Given the description of an element on the screen output the (x, y) to click on. 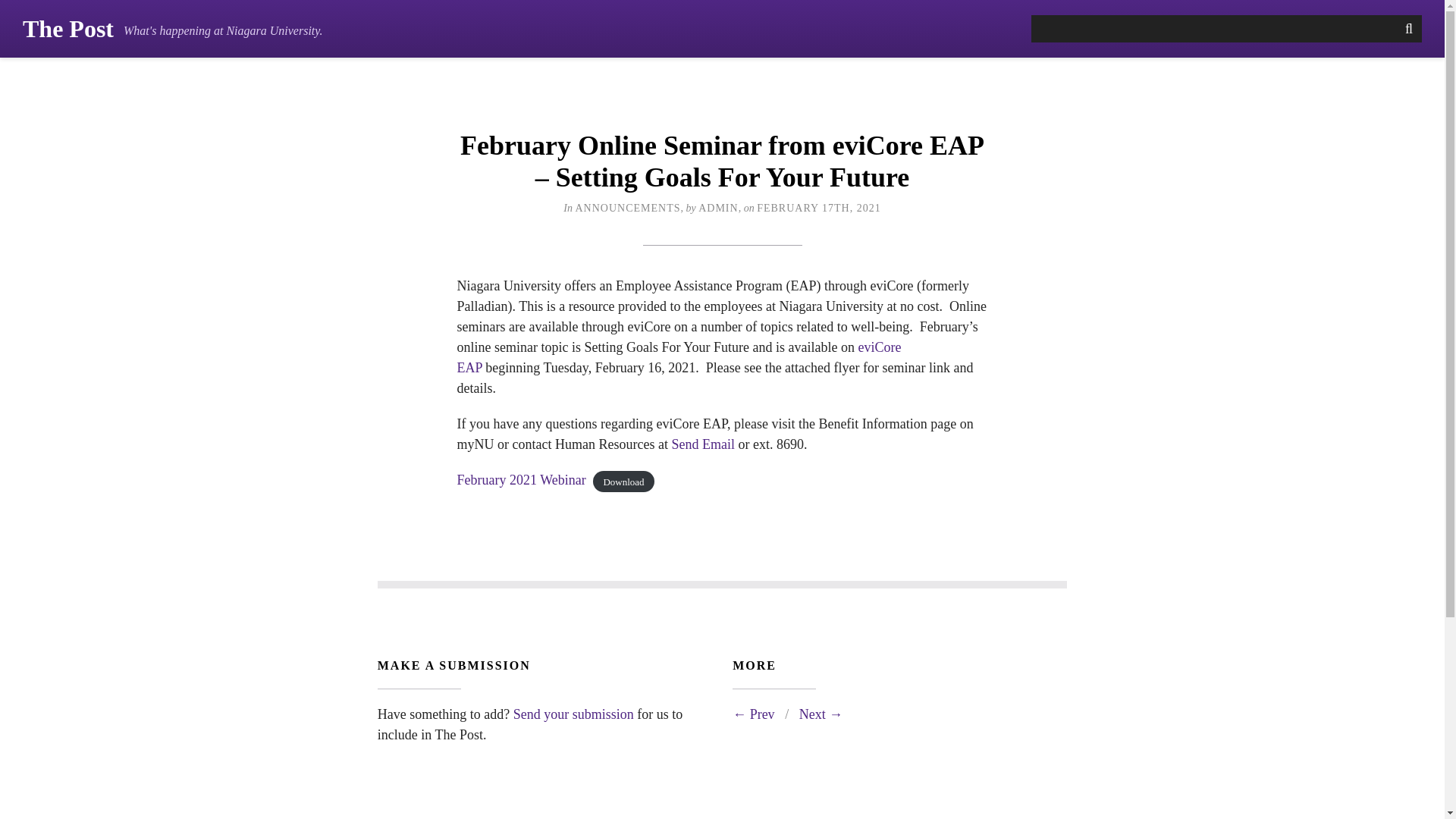
February 2021 Webinar (521, 479)
ANNOUNCEMENTS (627, 207)
eviCore EAP (679, 357)
The Post (68, 28)
The Post (68, 28)
Posts by Admin (718, 207)
ADMIN (718, 207)
Download (622, 481)
Send Email (703, 444)
Send your submission (573, 713)
